Given the description of an element on the screen output the (x, y) to click on. 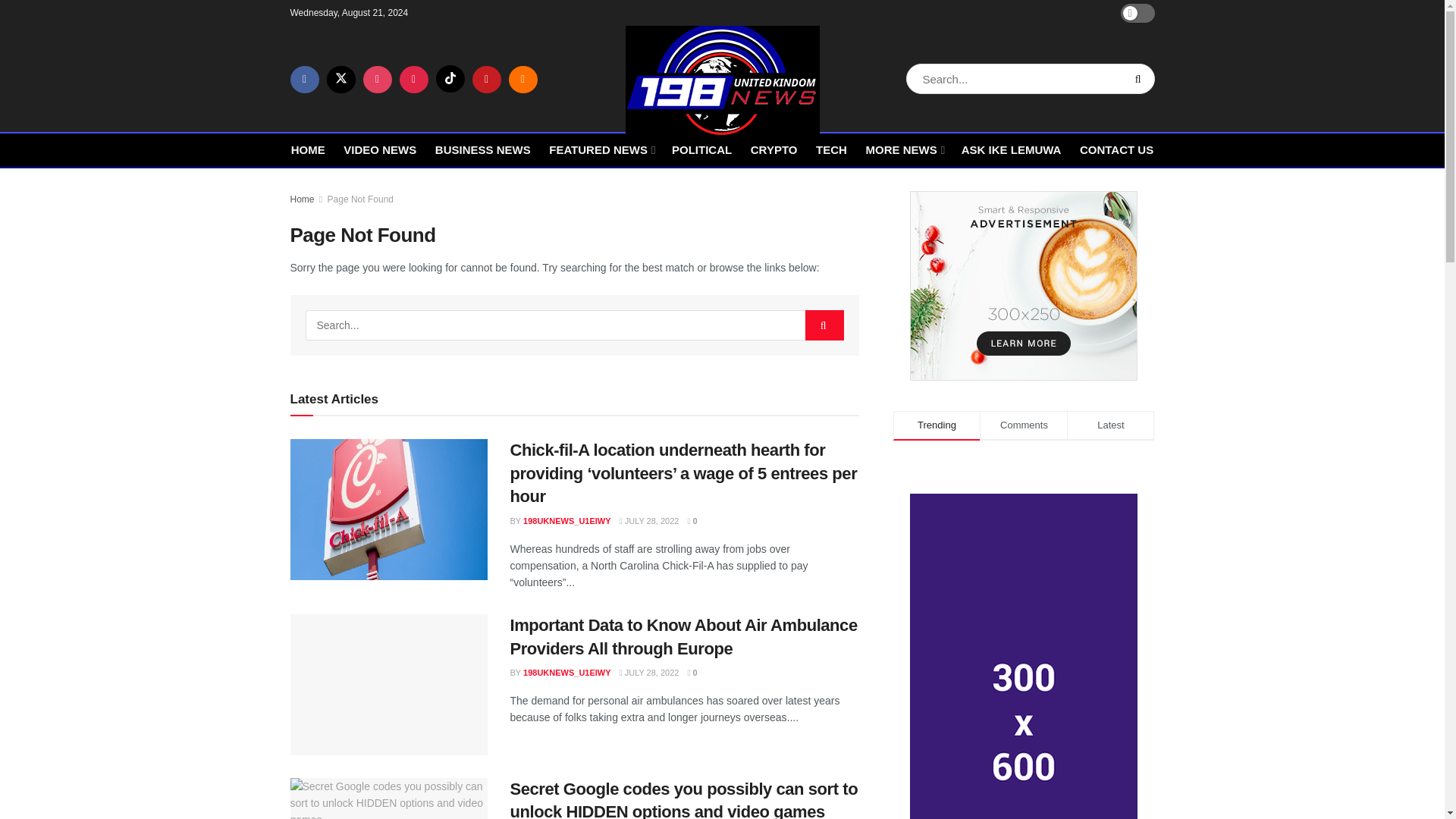
FEATURED NEWS (600, 149)
TECH (831, 149)
ASK IKE LEMUWA (1010, 149)
VIDEO NEWS (379, 149)
BUSINESS NEWS (483, 149)
POLITICAL (701, 149)
HOME (307, 149)
MORE NEWS (903, 149)
CONTACT US (1116, 149)
